Given the description of an element on the screen output the (x, y) to click on. 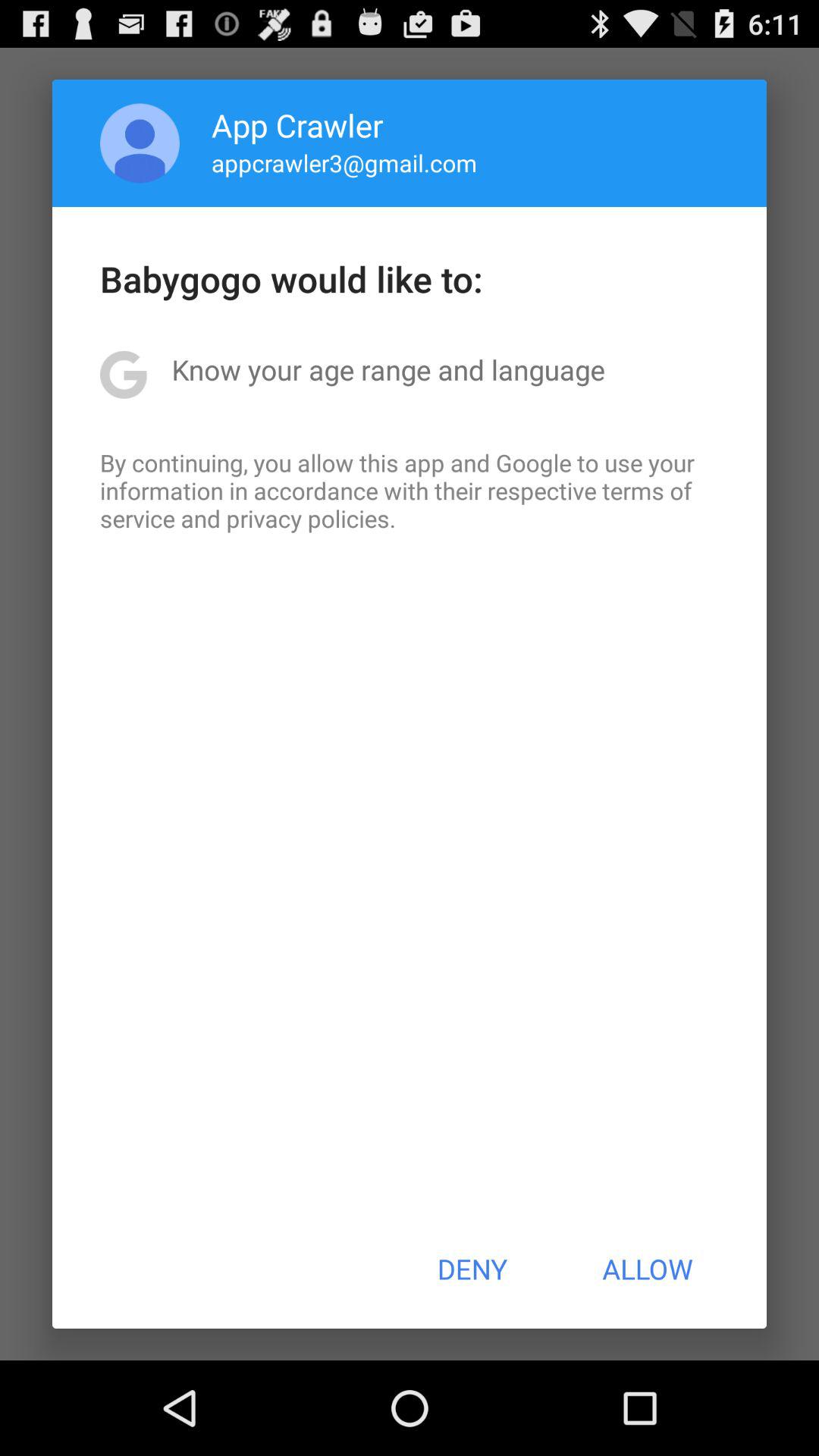
select the icon above the by continuing you icon (388, 369)
